Given the description of an element on the screen output the (x, y) to click on. 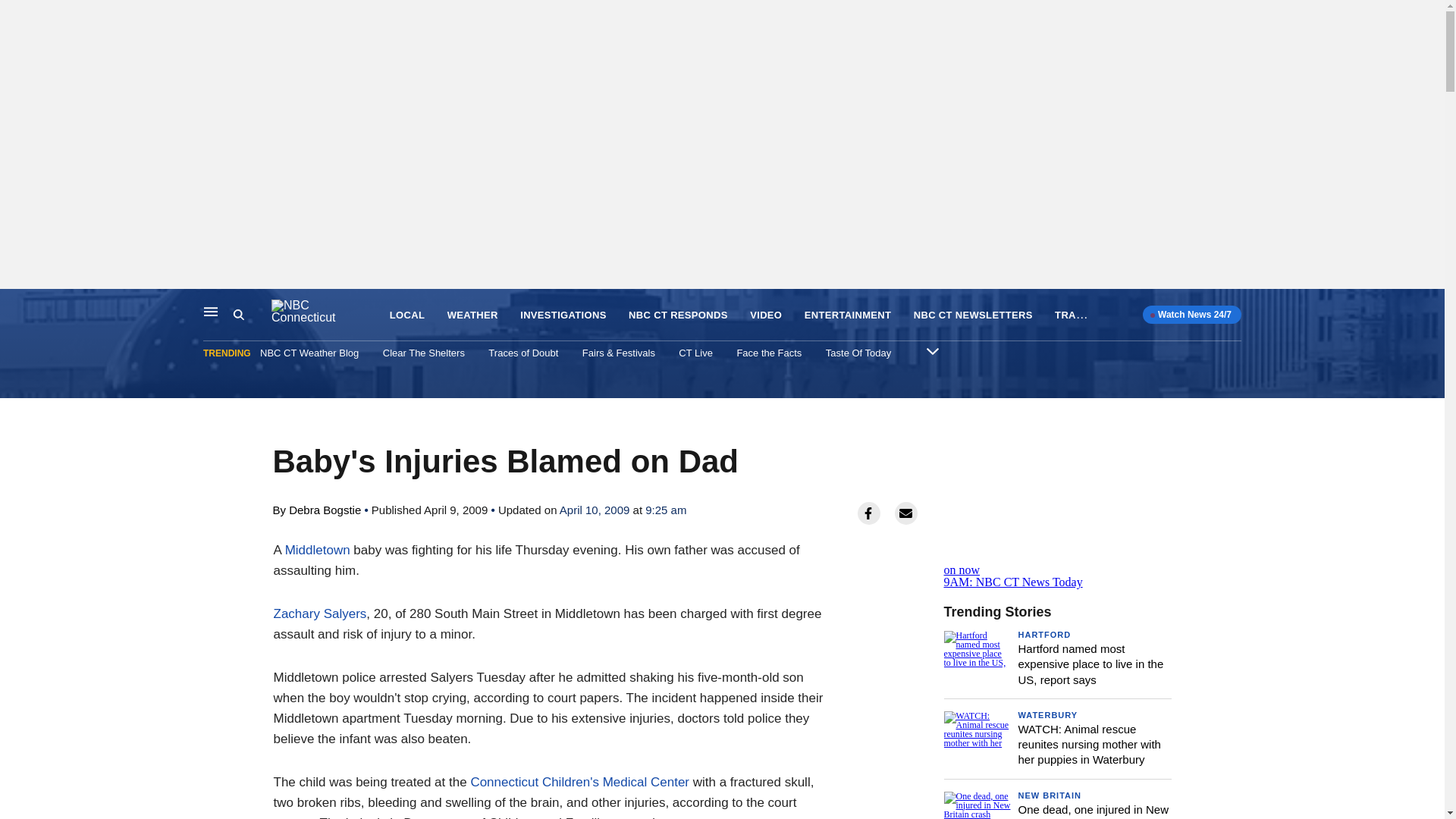
NBC CT RESPONDS (678, 315)
Traces of Doubt (522, 352)
CT Live (695, 352)
WEATHER (1056, 563)
TRAFFIC (471, 315)
Middletown (1076, 314)
Taste Of Today (317, 549)
Expand (858, 352)
